Given the description of an element on the screen output the (x, y) to click on. 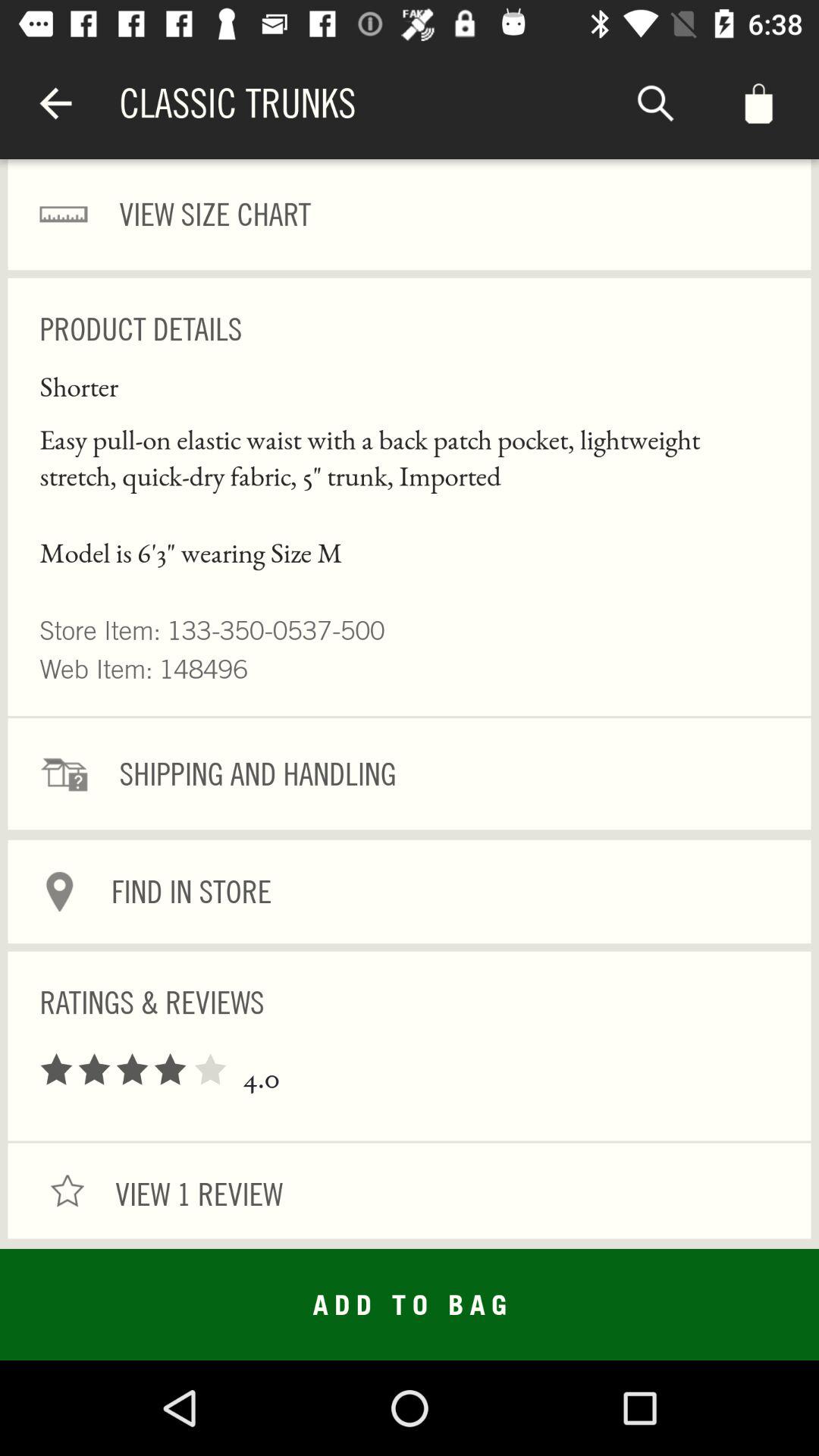
turn off item above product details item (409, 214)
